Given the description of an element on the screen output the (x, y) to click on. 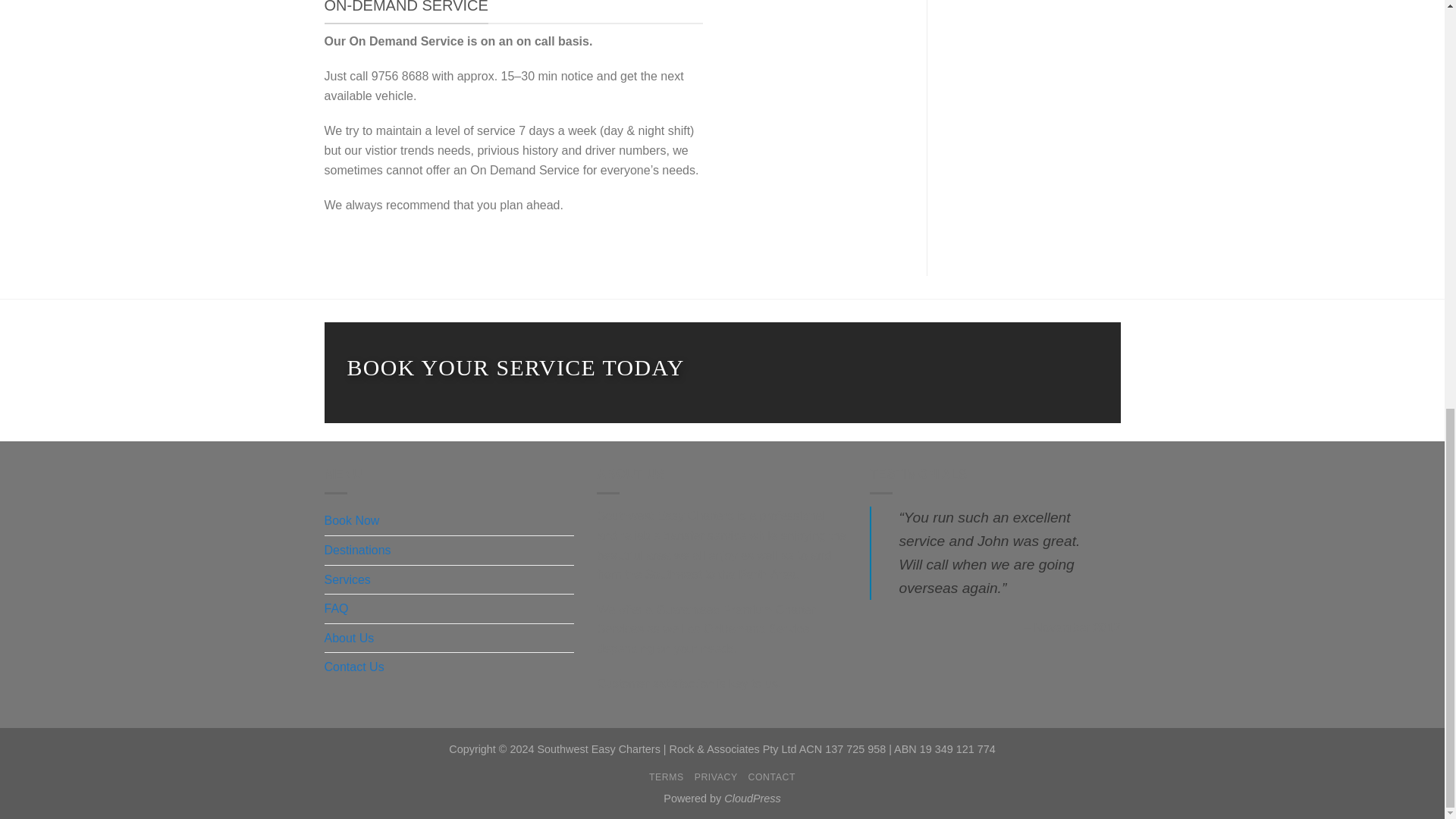
Services (347, 579)
TERMS (666, 777)
About Us (349, 638)
CONTACT (772, 777)
Contact Us (354, 666)
Destinations (357, 550)
CloudPress (751, 798)
Book Now (352, 520)
PRIVACY (716, 777)
